Given the description of an element on the screen output the (x, y) to click on. 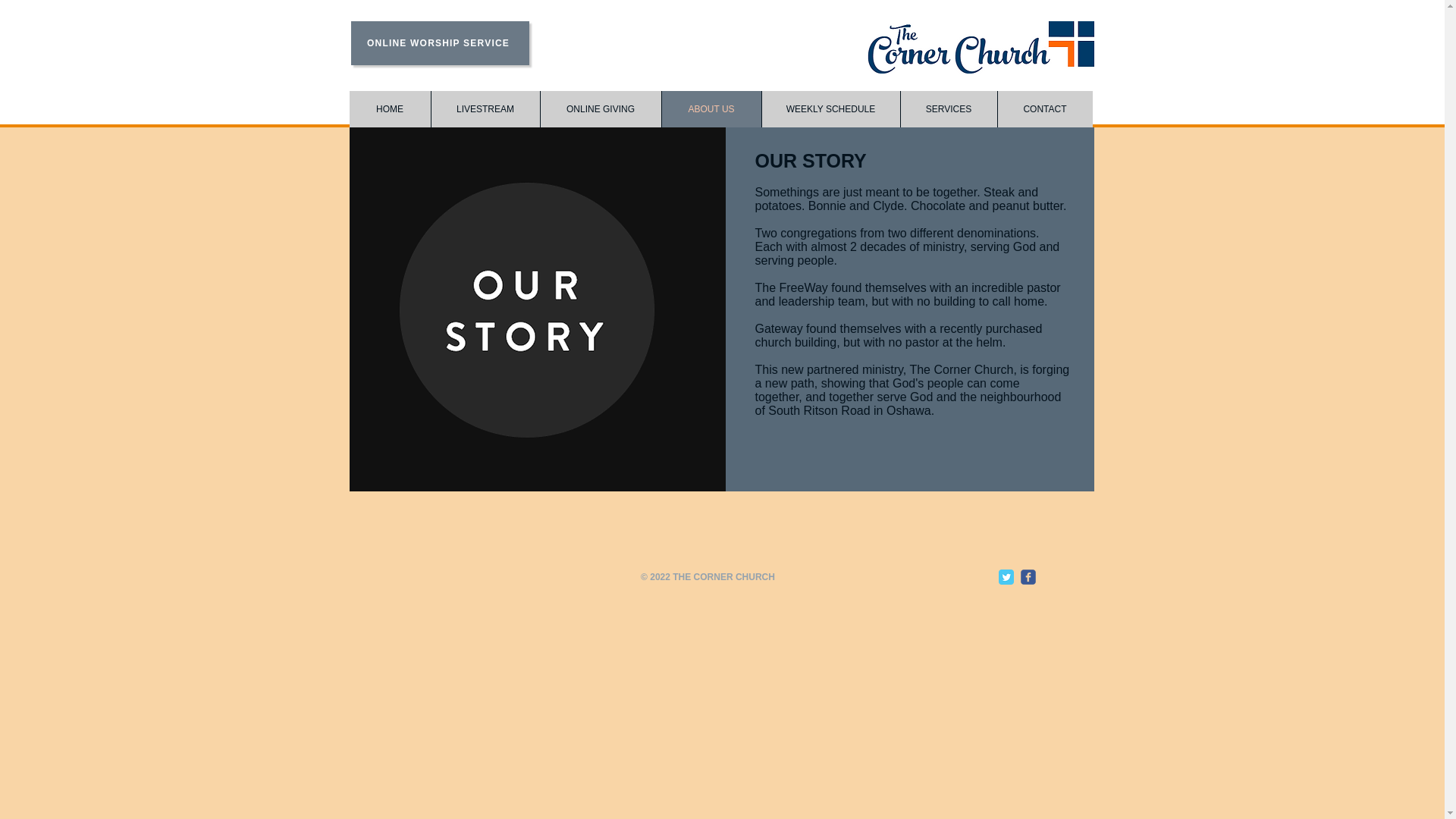
ONLINE WORSHIP SERVICE (439, 43)
CONTACT (1043, 108)
WEEKLY SCHEDULE (830, 108)
LIVESTREAM (485, 108)
ONLINE GIVING (600, 108)
HOME (389, 108)
ABOUT US (711, 108)
SERVICES (947, 108)
